Given the description of an element on the screen output the (x, y) to click on. 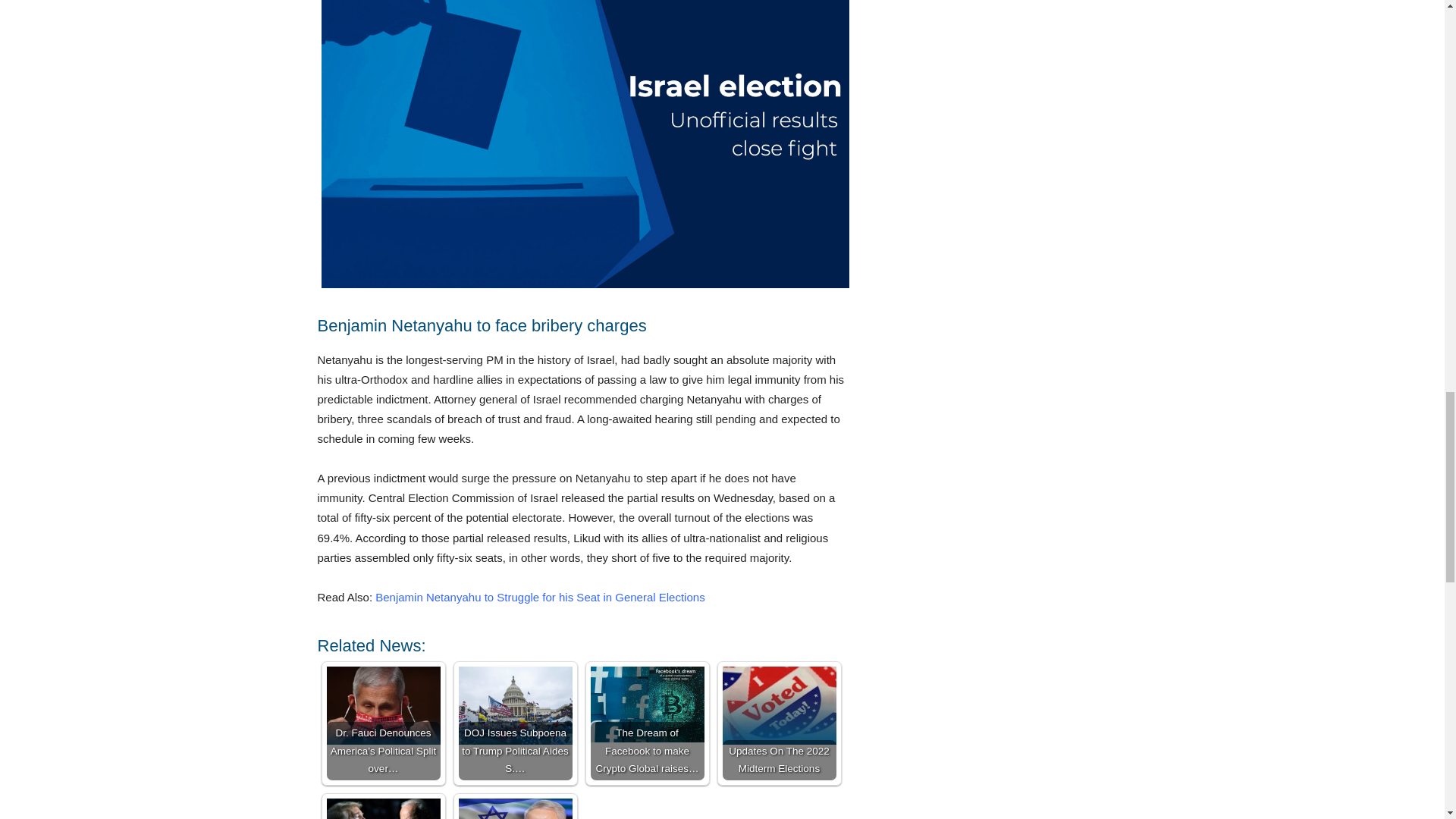
Joe Biden took lead over Trump in 2020 Elections (382, 808)
Updates On The 2022 Midterm Elections (778, 705)
